Given the description of an element on the screen output the (x, y) to click on. 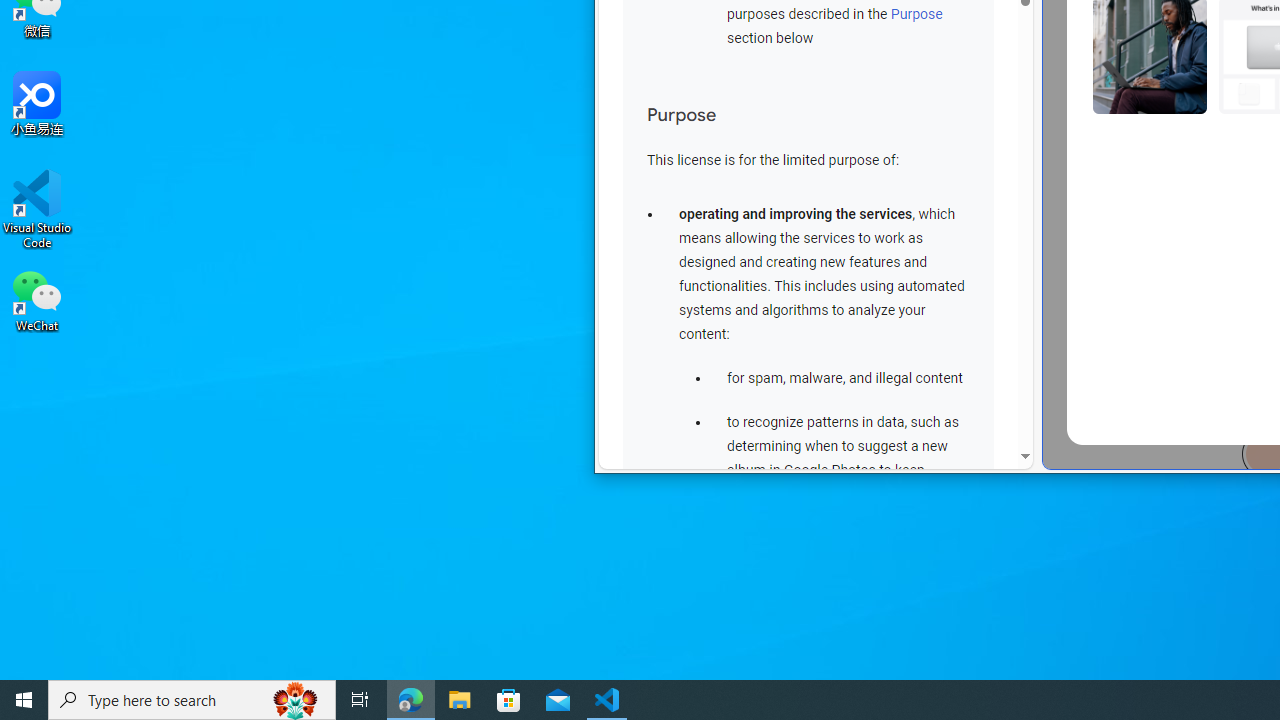
WeChat (37, 299)
Visual Studio Code (37, 209)
